Given the description of an element on the screen output the (x, y) to click on. 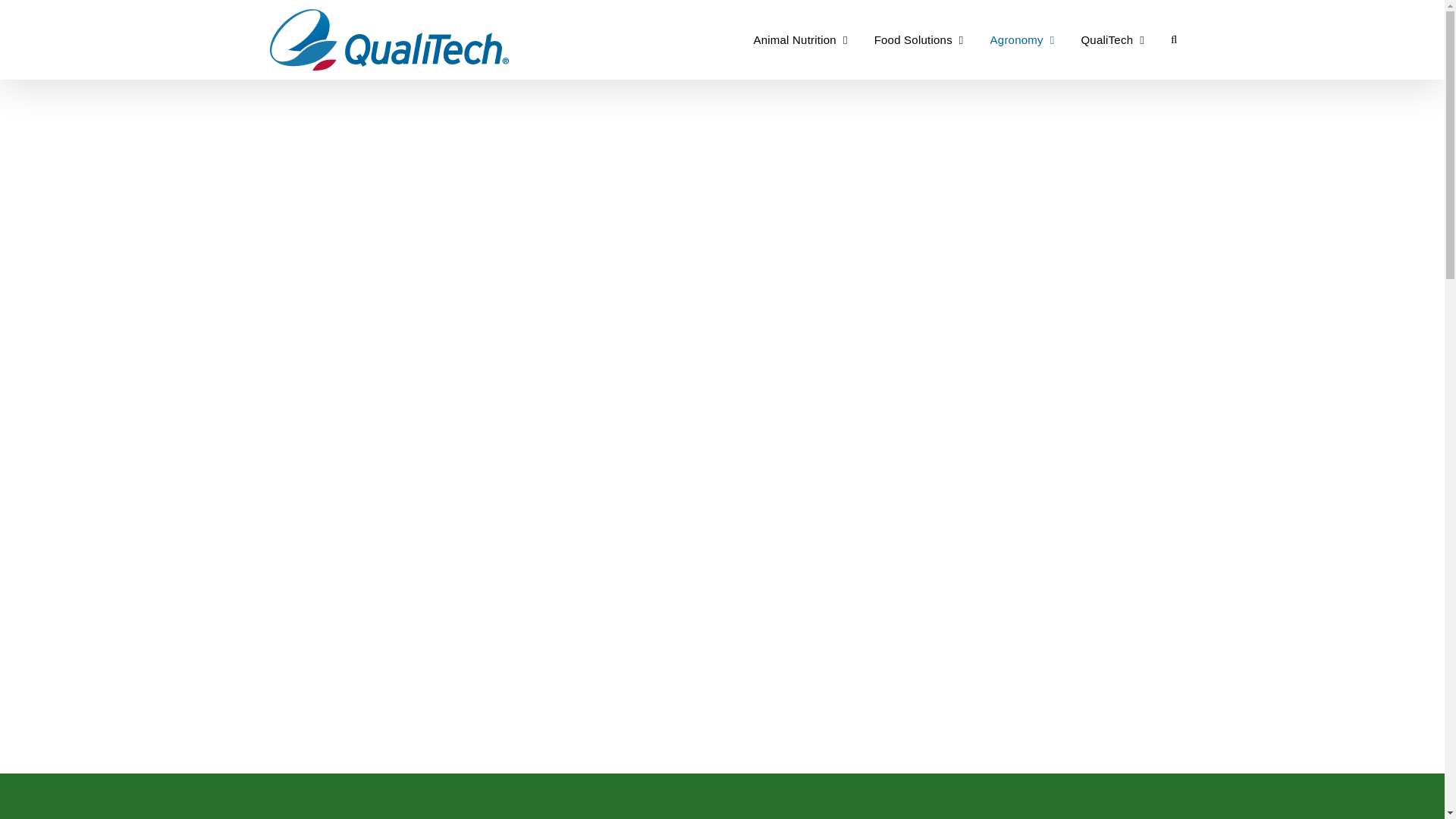
Food Solutions (919, 39)
Animal Nutrition (799, 39)
